Given the description of an element on the screen output the (x, y) to click on. 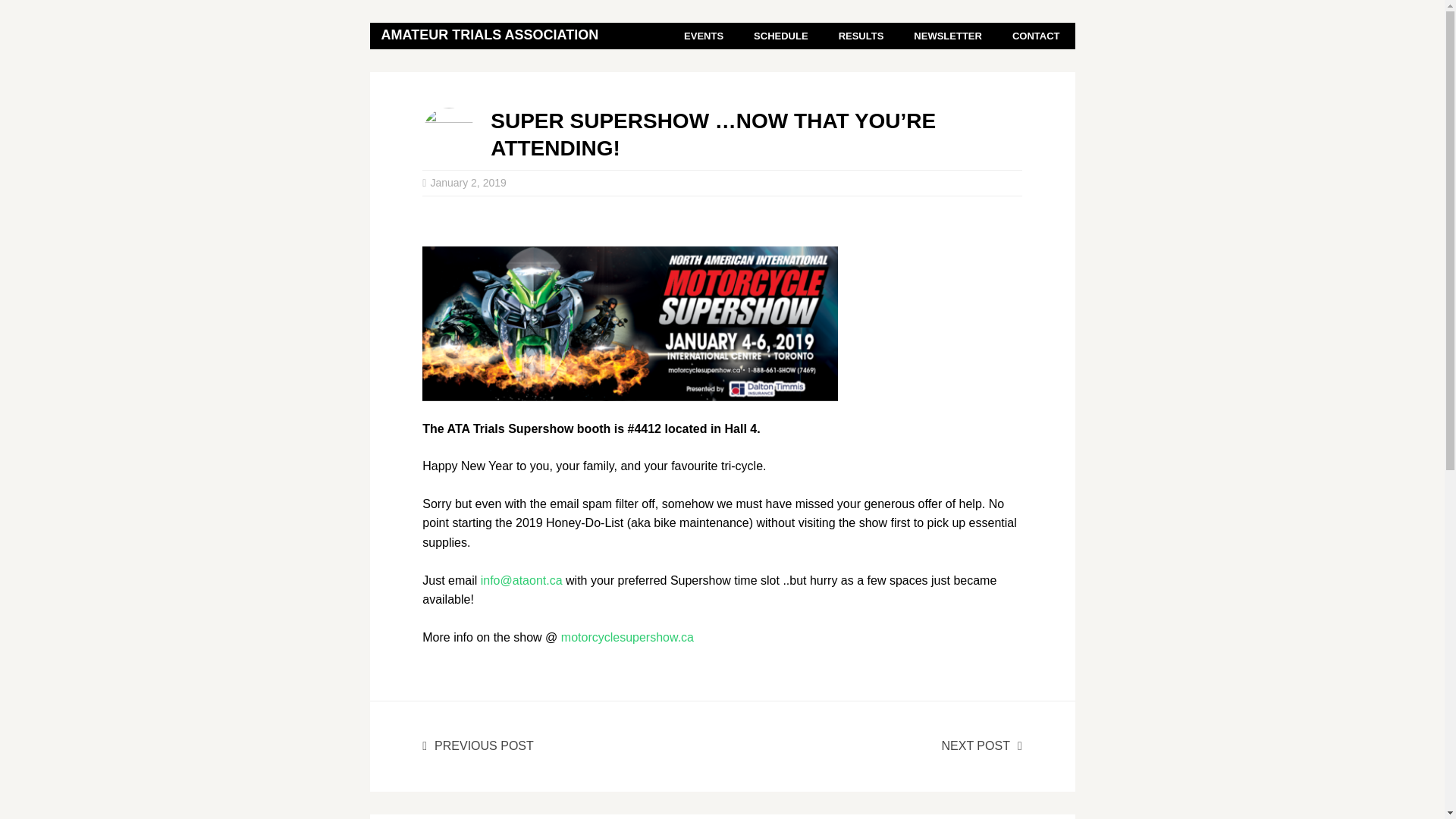
NEXT POST (982, 745)
PREVIOUS POST (478, 745)
RESULTS (861, 35)
EVENTS (703, 35)
Amateur Trials Association (489, 34)
SCHEDULE (781, 35)
AMATEUR TRIALS ASSOCIATION (489, 34)
NEWSLETTER (947, 35)
CONTACT (1036, 35)
motorcyclesupershow.ca (627, 636)
